Given the description of an element on the screen output the (x, y) to click on. 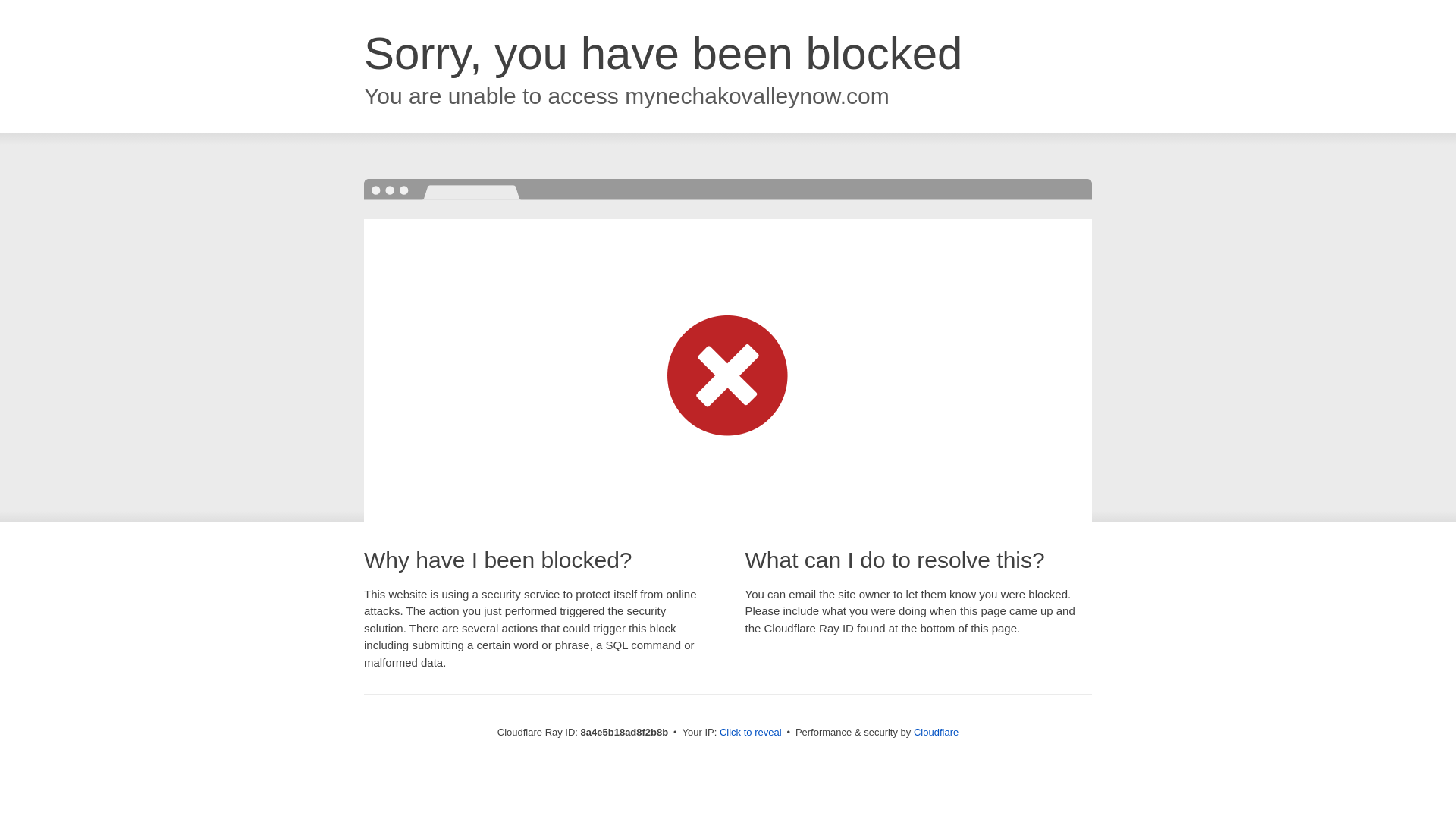
Click to reveal (750, 732)
Cloudflare (936, 731)
